Given the description of an element on the screen output the (x, y) to click on. 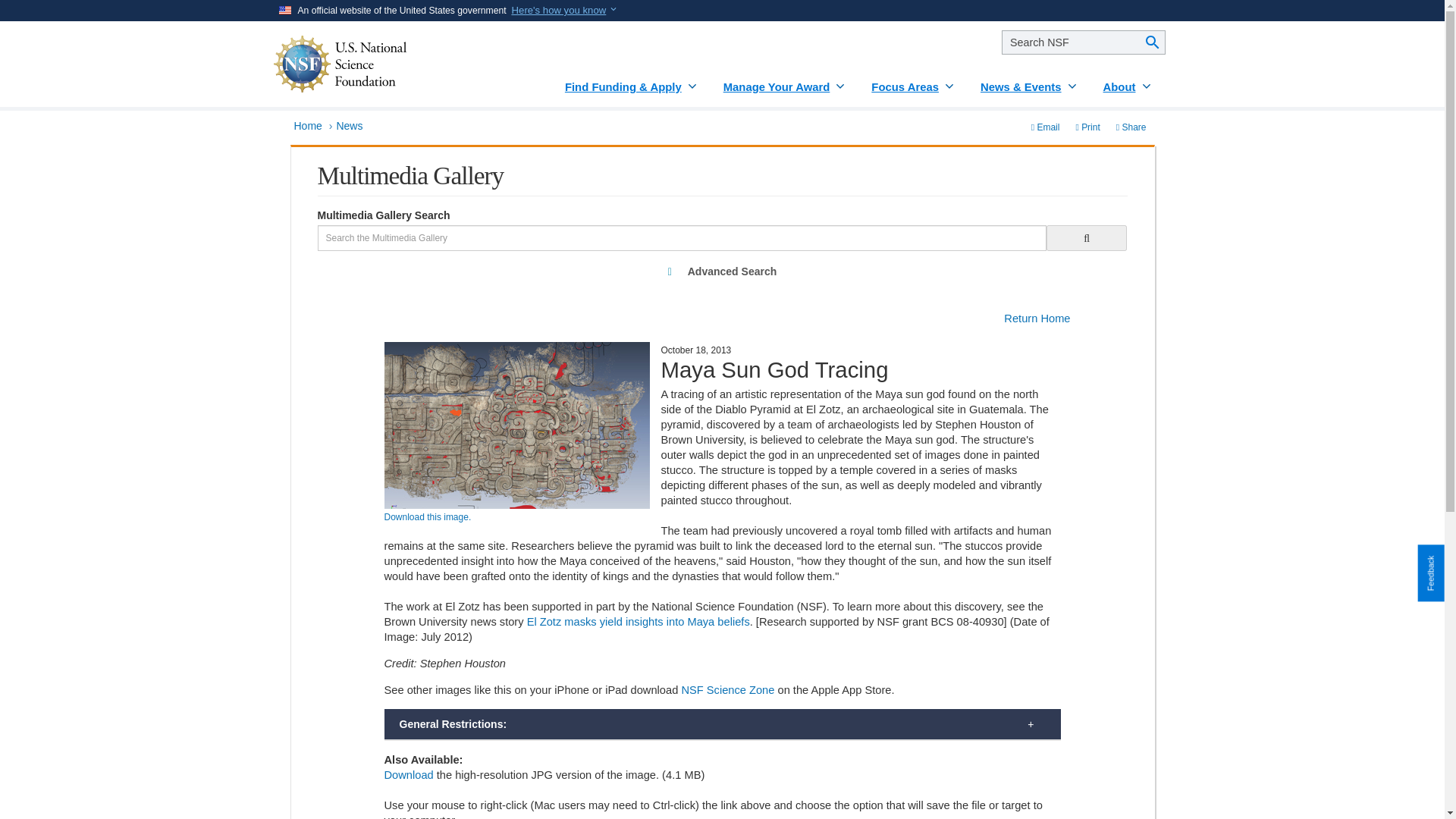
Return Home (1037, 318)
Manage Your Award (785, 81)
General Restrictions: (721, 724)
News (349, 125)
About (1128, 81)
NSF Science Zone (727, 689)
Share (1131, 127)
Download this image. (427, 516)
Print (1087, 127)
Home (307, 125)
